Given the description of an element on the screen output the (x, y) to click on. 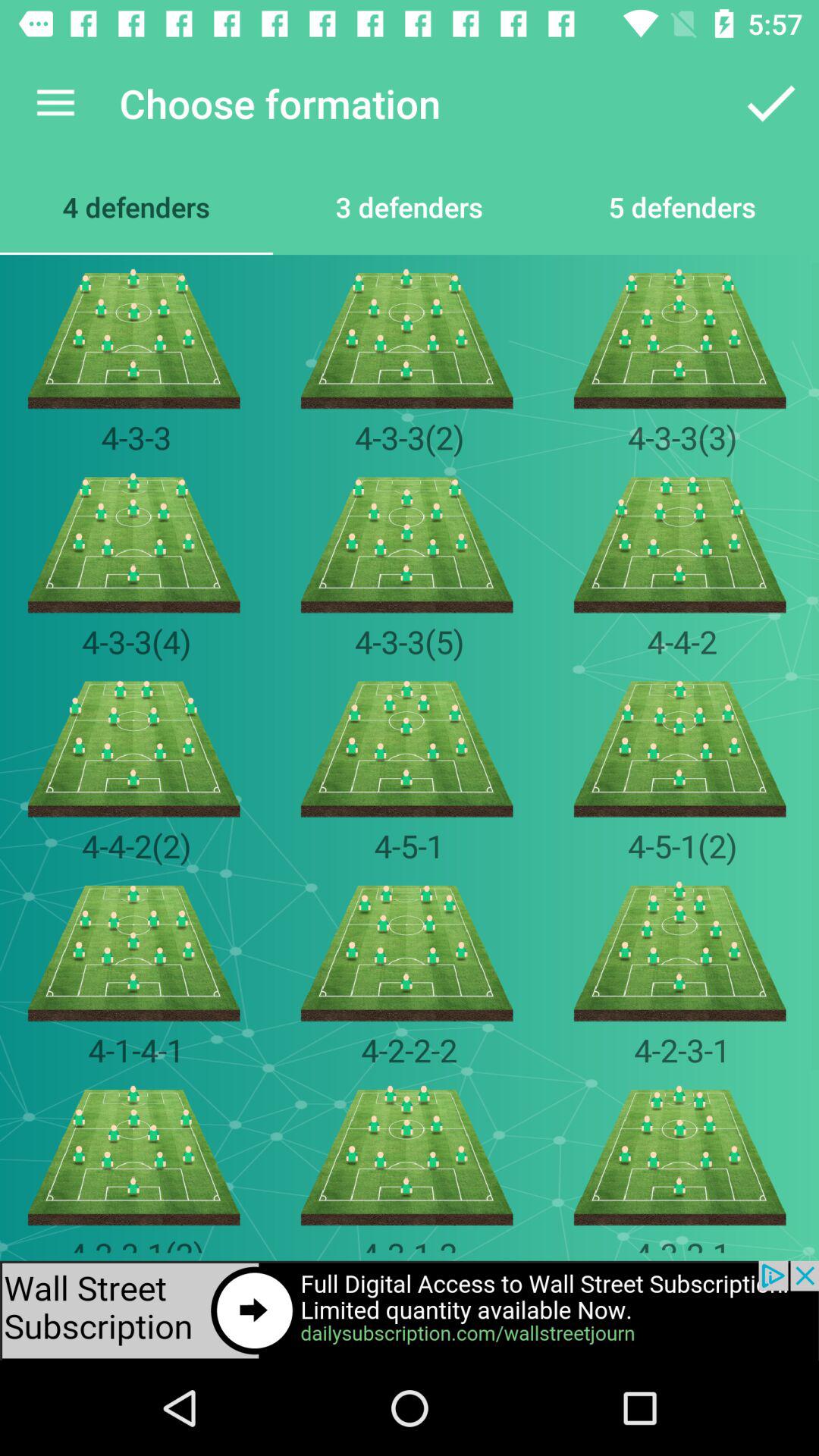
click on the image below 4333 (682, 543)
select the image which is below the 4222 (409, 1155)
